Given the description of an element on the screen output the (x, y) to click on. 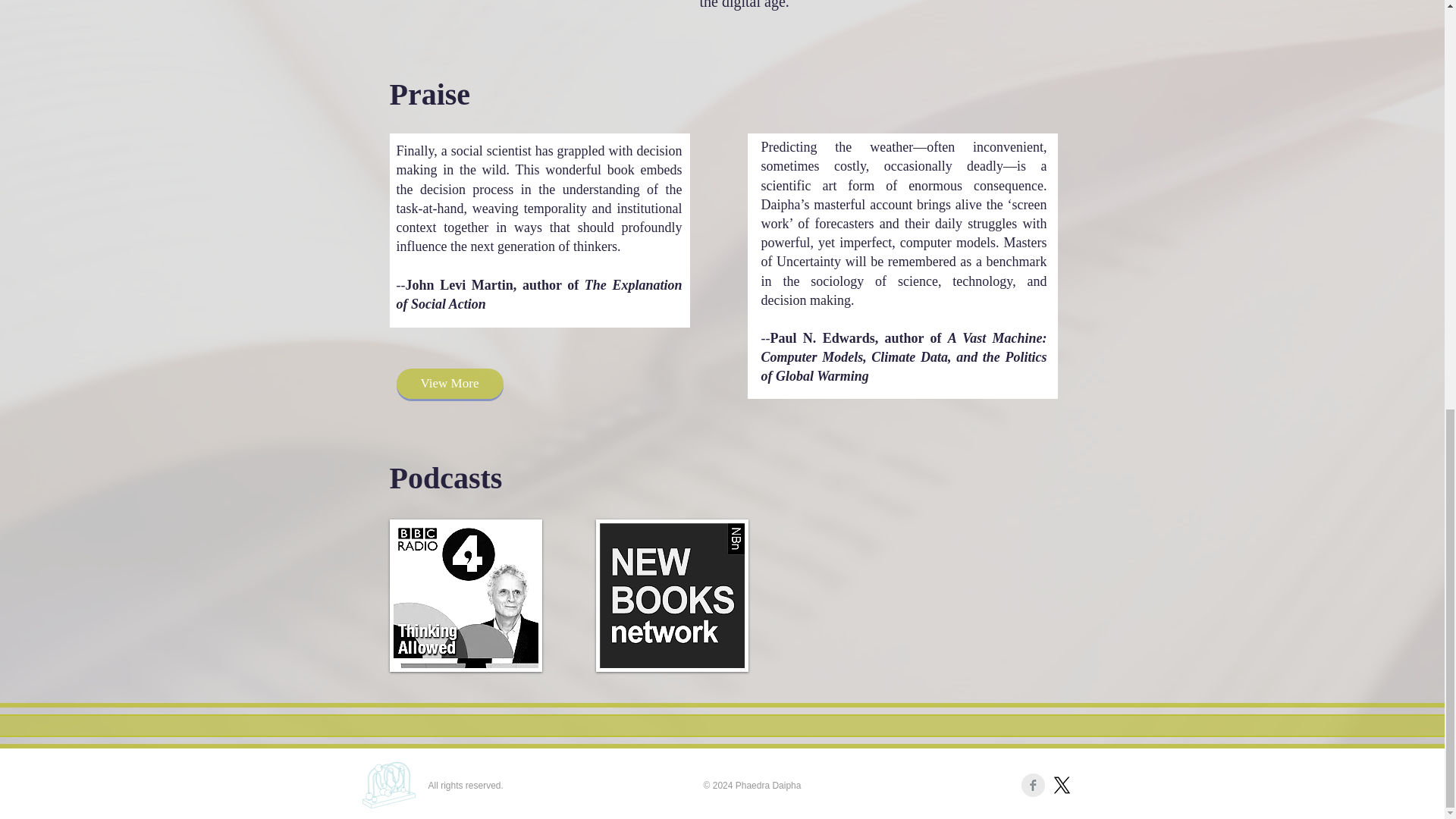
View More (449, 383)
p02r4y29.jpg (465, 595)
